Given the description of an element on the screen output the (x, y) to click on. 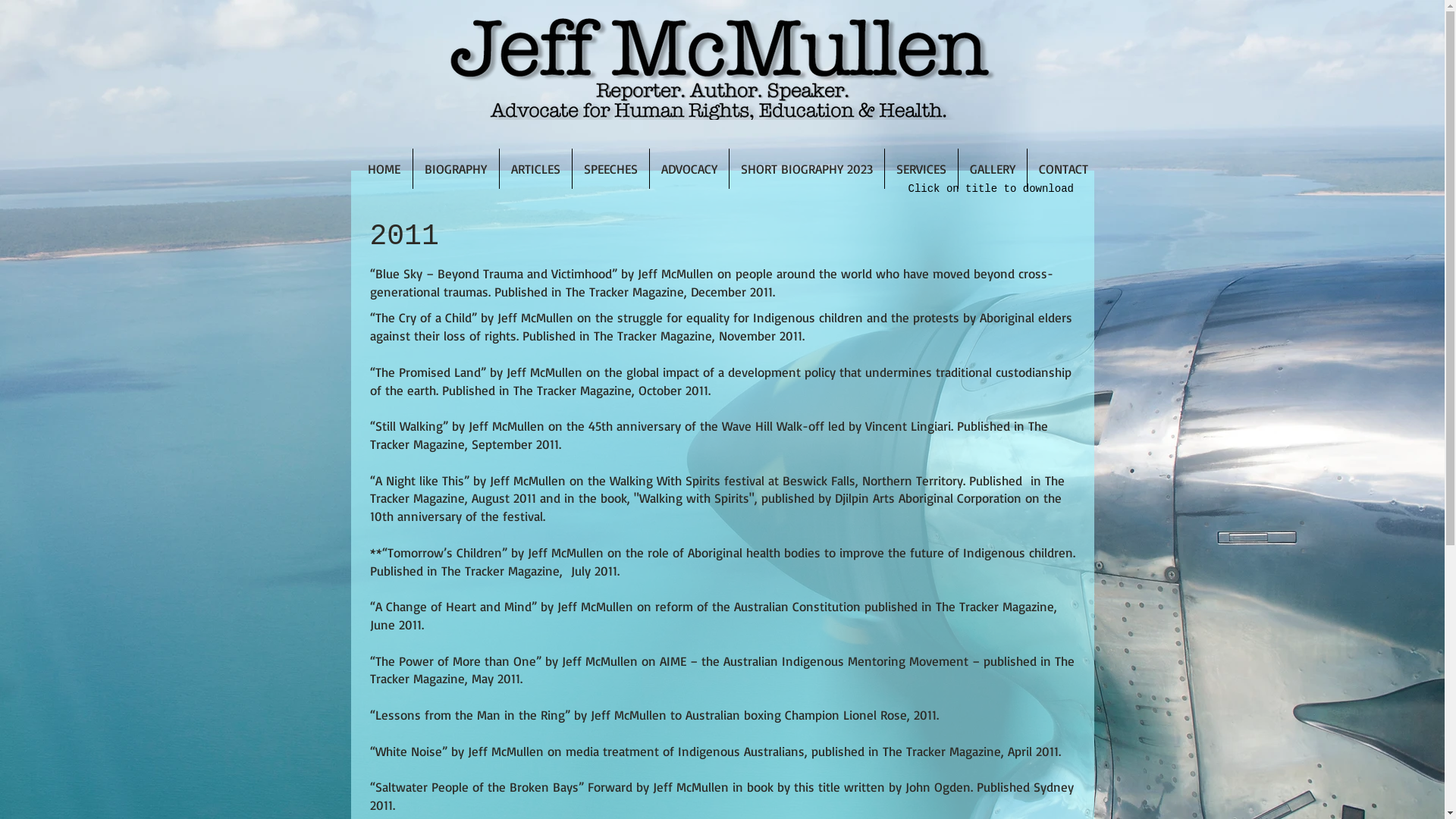
CONTACT Element type: text (1062, 168)
ADVOCACY Element type: text (688, 168)
SERVICES Element type: text (920, 168)
SHORT BIOGRAPHY 2023 Element type: text (806, 168)
HOME Element type: text (384, 168)
GALLERY Element type: text (992, 168)
BIOGRAPHY Element type: text (455, 168)
ARTICLES Element type: text (534, 168)
SPEECHES Element type: text (609, 168)
